Given the description of an element on the screen output the (x, y) to click on. 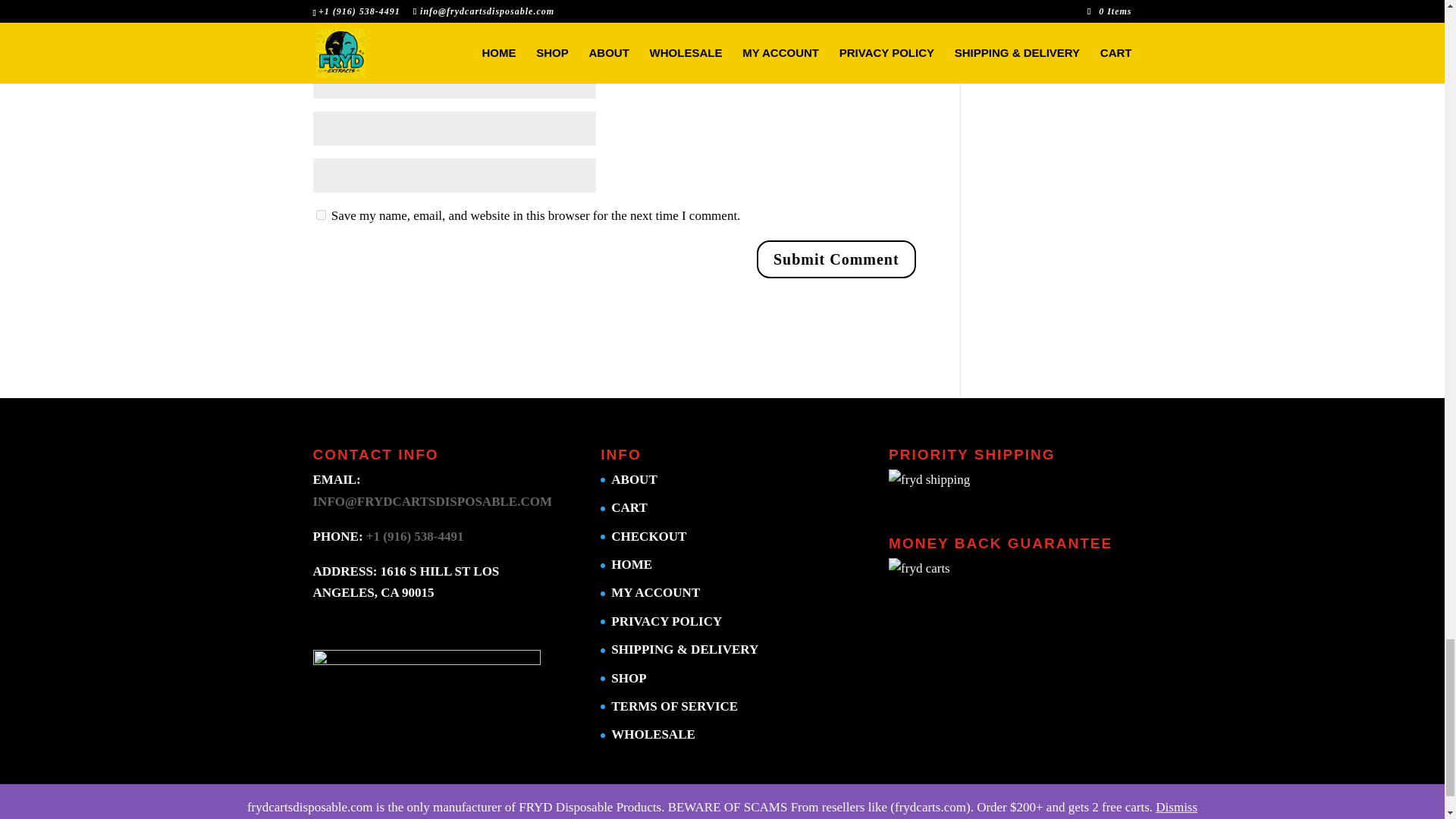
ABOUT (633, 479)
Submit Comment (836, 259)
MY ACCOUNT (655, 592)
yes (319, 214)
CHECKOUT (648, 536)
HOME (631, 564)
CART (629, 507)
Submit Comment (836, 259)
